Given the description of an element on the screen output the (x, y) to click on. 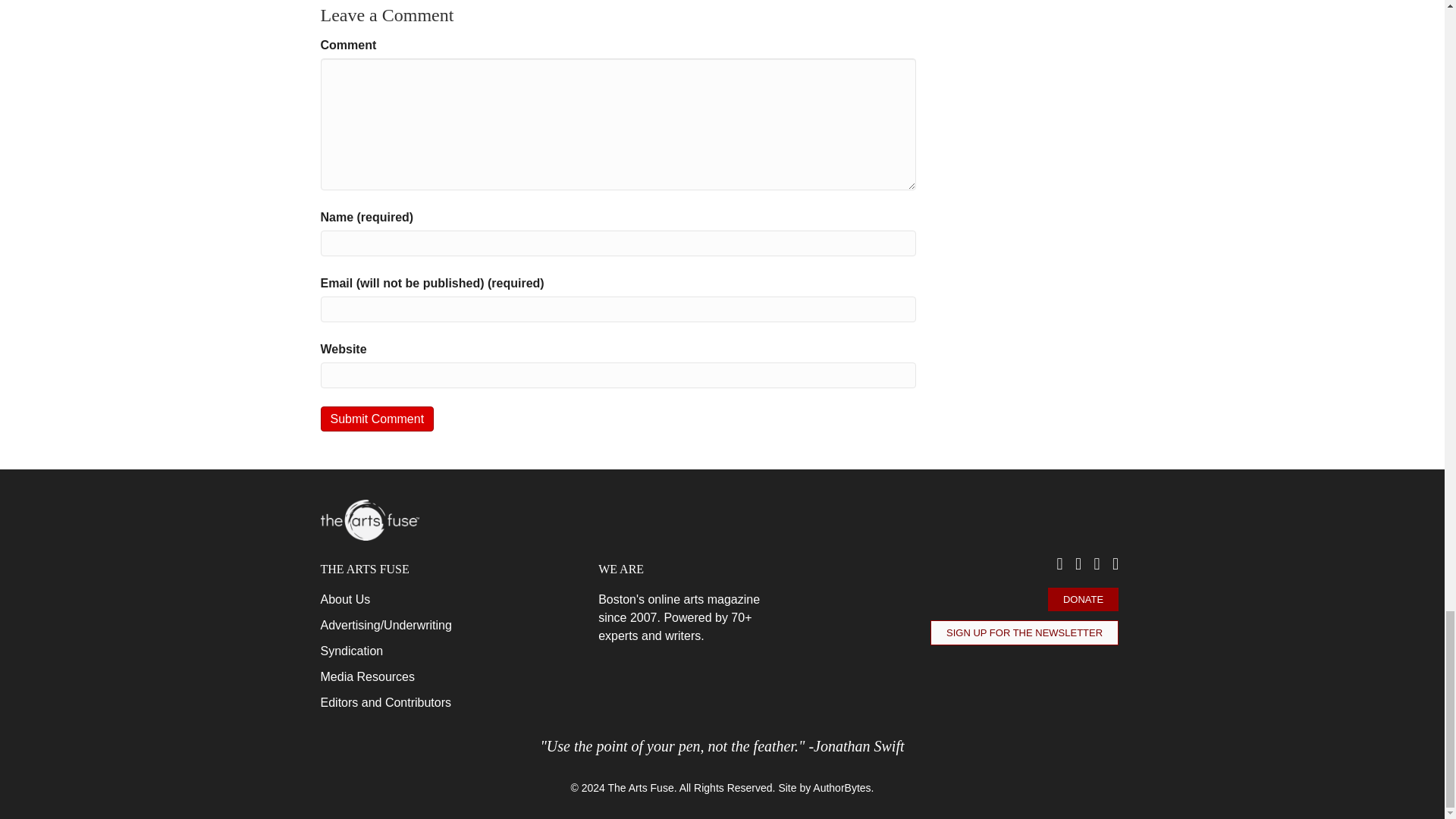
Submit Comment (376, 418)
